Given the description of an element on the screen output the (x, y) to click on. 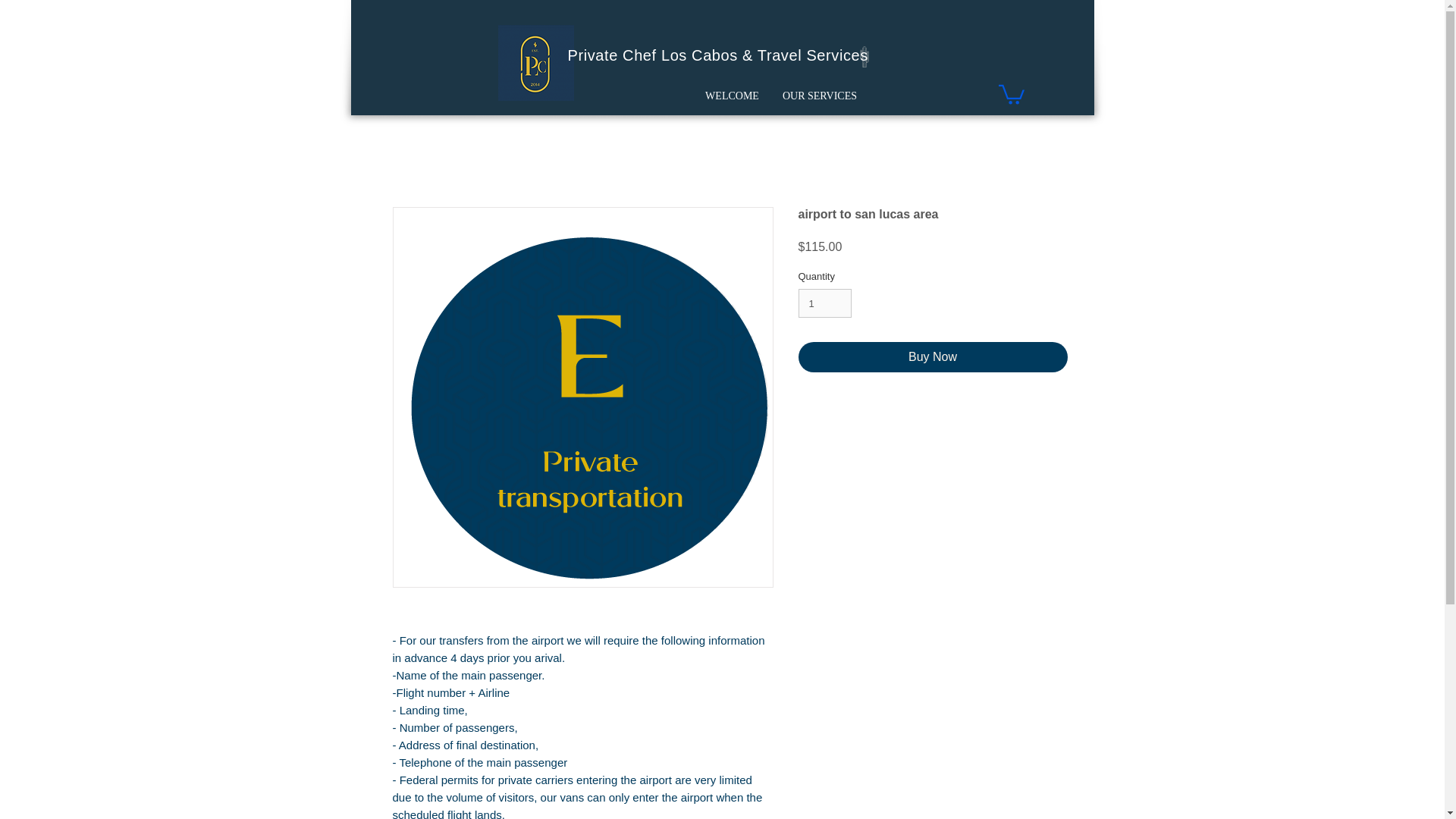
WELCOME (732, 95)
1 (824, 303)
OUR SERVICES (819, 95)
Buy Now (932, 357)
